Given the description of an element on the screen output the (x, y) to click on. 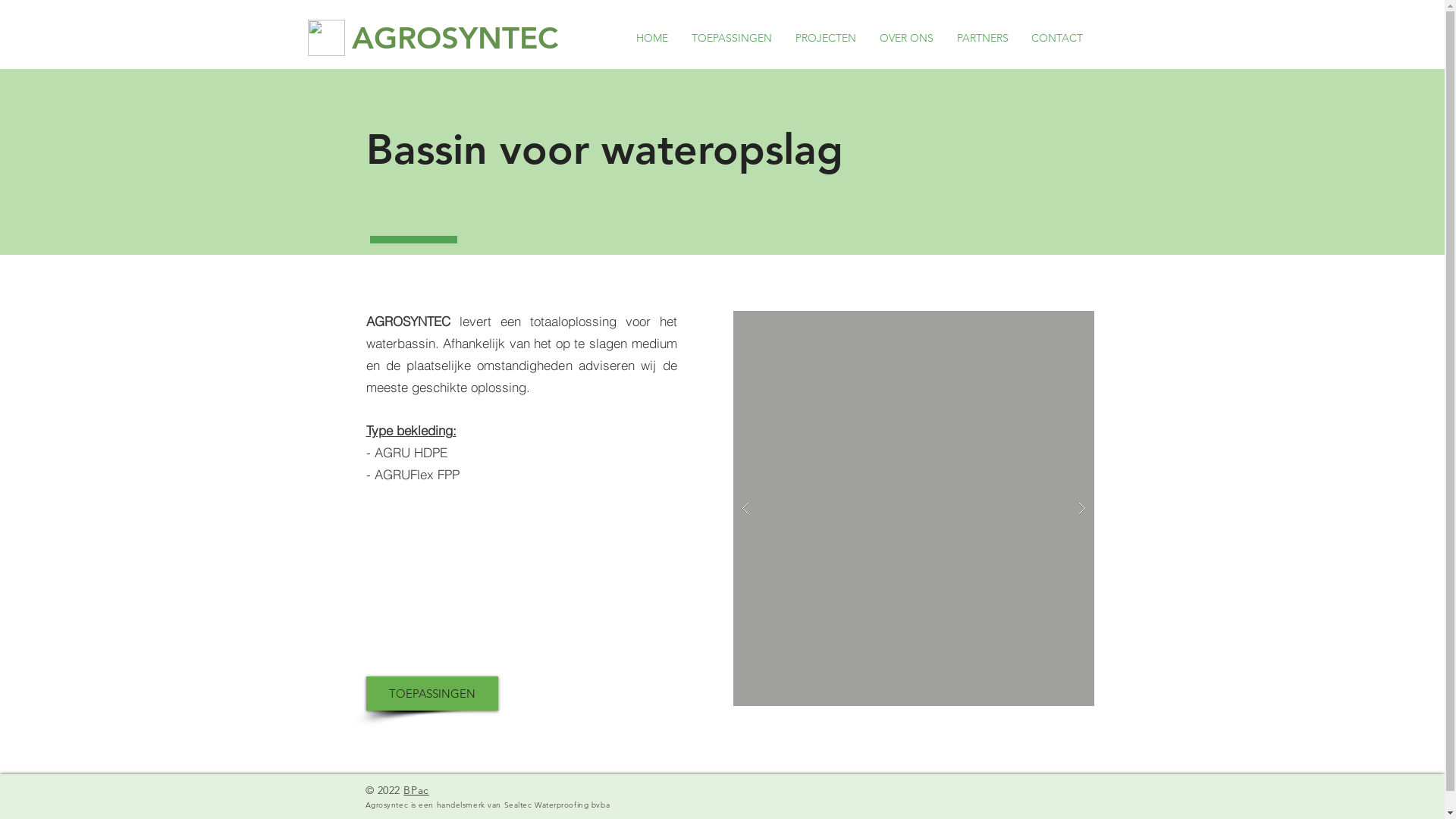
CONTACT Element type: text (1056, 37)
PROJECTEN Element type: text (826, 37)
Agrosyntec is een handelsmerk van Sealtec Waterproofing bvba Element type: text (487, 803)
OVER ONS Element type: text (905, 37)
TOEPASSINGEN Element type: text (431, 693)
BPac Element type: text (415, 790)
TOEPASSINGEN Element type: text (731, 37)
HOME Element type: text (652, 37)
PARTNERS Element type: text (981, 37)
